Given the description of an element on the screen output the (x, y) to click on. 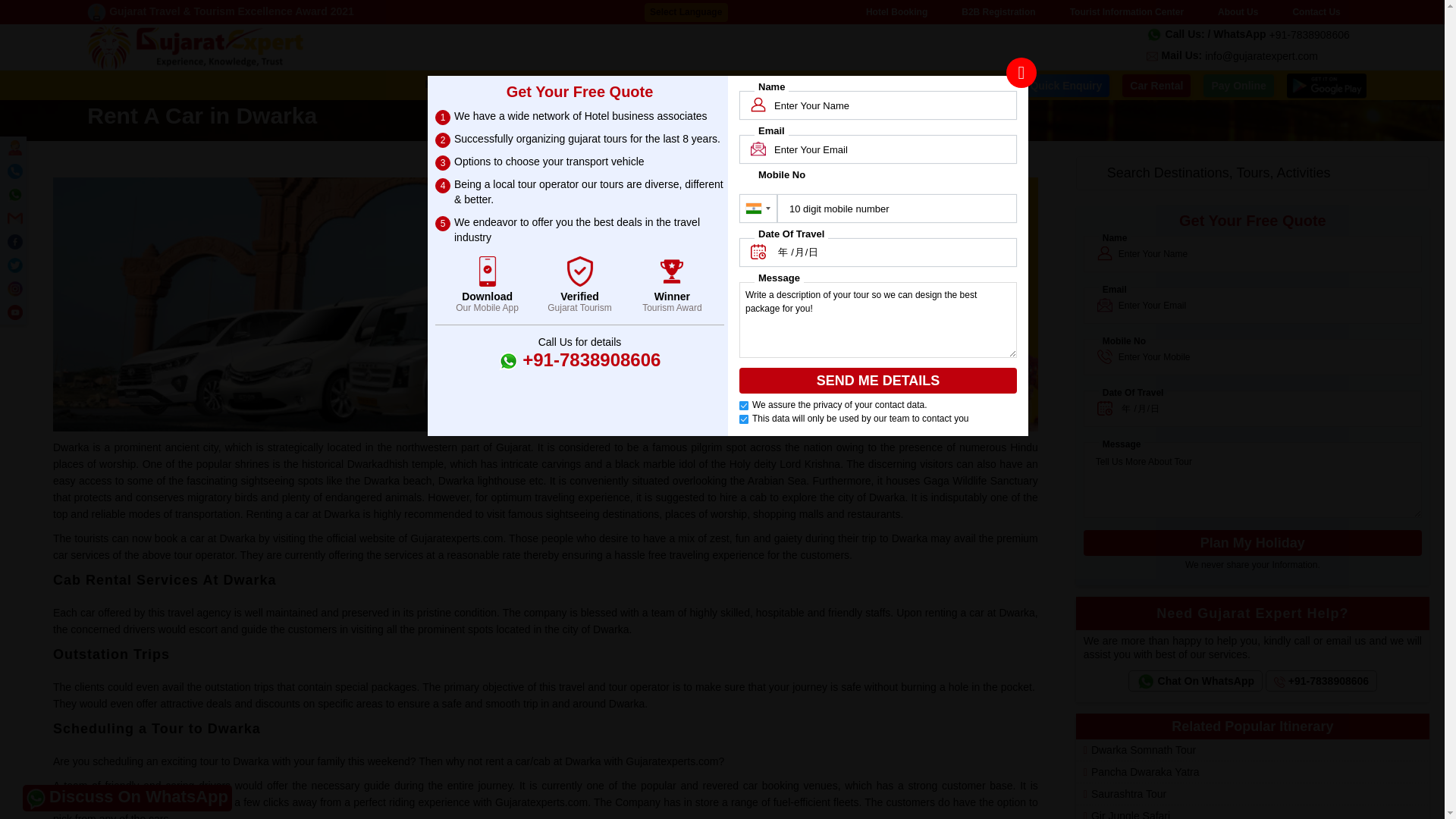
Home (439, 84)
Contact Us (1315, 12)
Tour Packages (504, 84)
Tourist Information Center (1126, 12)
Regular Tour (595, 84)
B2B Registration (997, 12)
SEND ME DETAILS (877, 380)
Plan my Holiday (1252, 542)
Hotel Booking (896, 12)
Destinations (681, 84)
About Us (1237, 12)
